Given the description of an element on the screen output the (x, y) to click on. 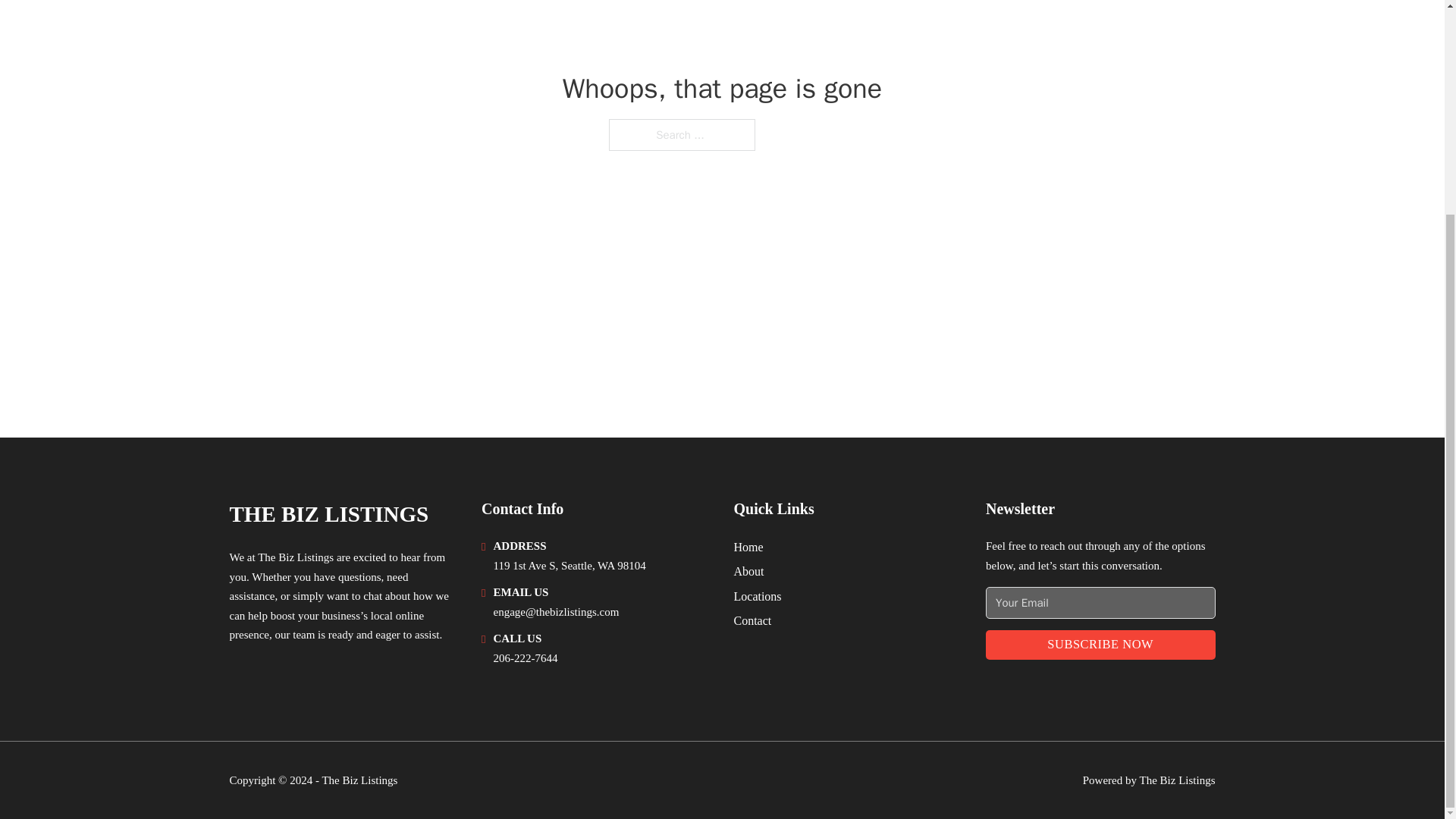
206-222-7644 (525, 657)
Contact (752, 620)
About (748, 571)
SUBSCRIBE NOW (1100, 644)
Home (747, 547)
Locations (757, 596)
THE BIZ LISTINGS (328, 514)
